Given the description of an element on the screen output the (x, y) to click on. 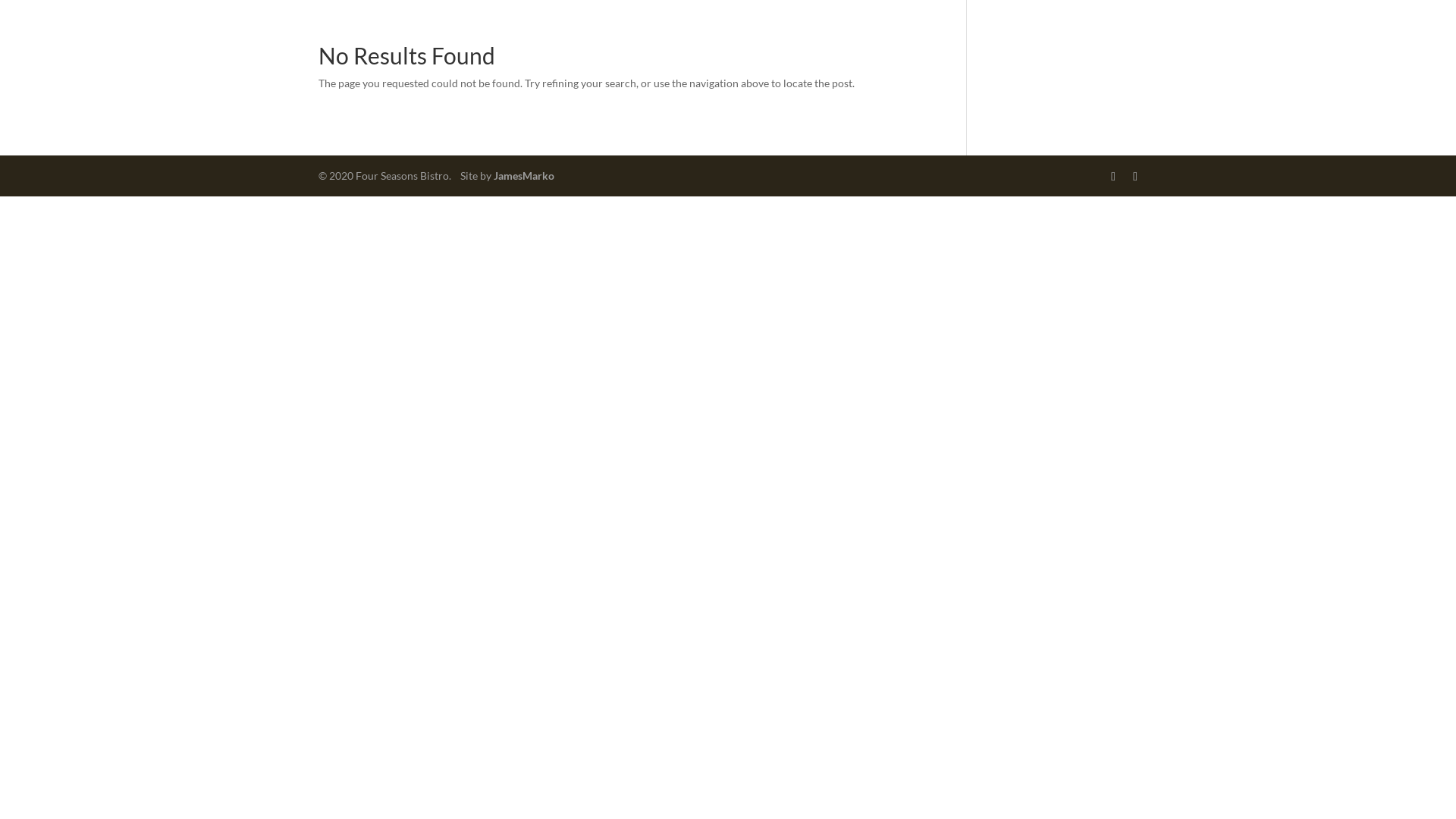
JamesMarko Element type: text (523, 175)
